Given the description of an element on the screen output the (x, y) to click on. 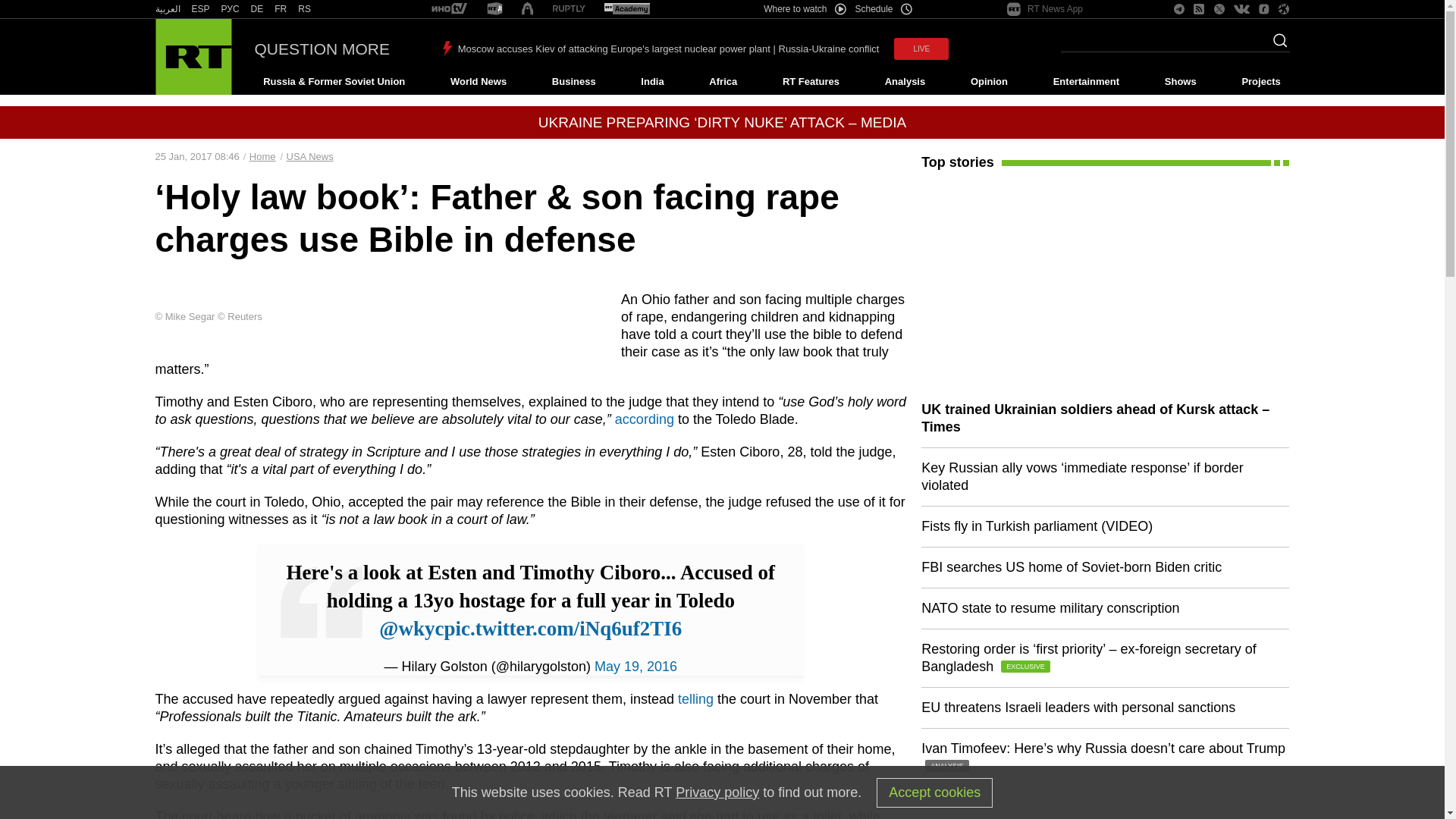
RT  (199, 9)
RT  (230, 9)
QUESTION MORE (322, 48)
Entertainment (1085, 81)
Business (573, 81)
RT  (280, 9)
Schedule (884, 9)
Search (1276, 44)
Projects (1261, 81)
ESP (199, 9)
